Given the description of an element on the screen output the (x, y) to click on. 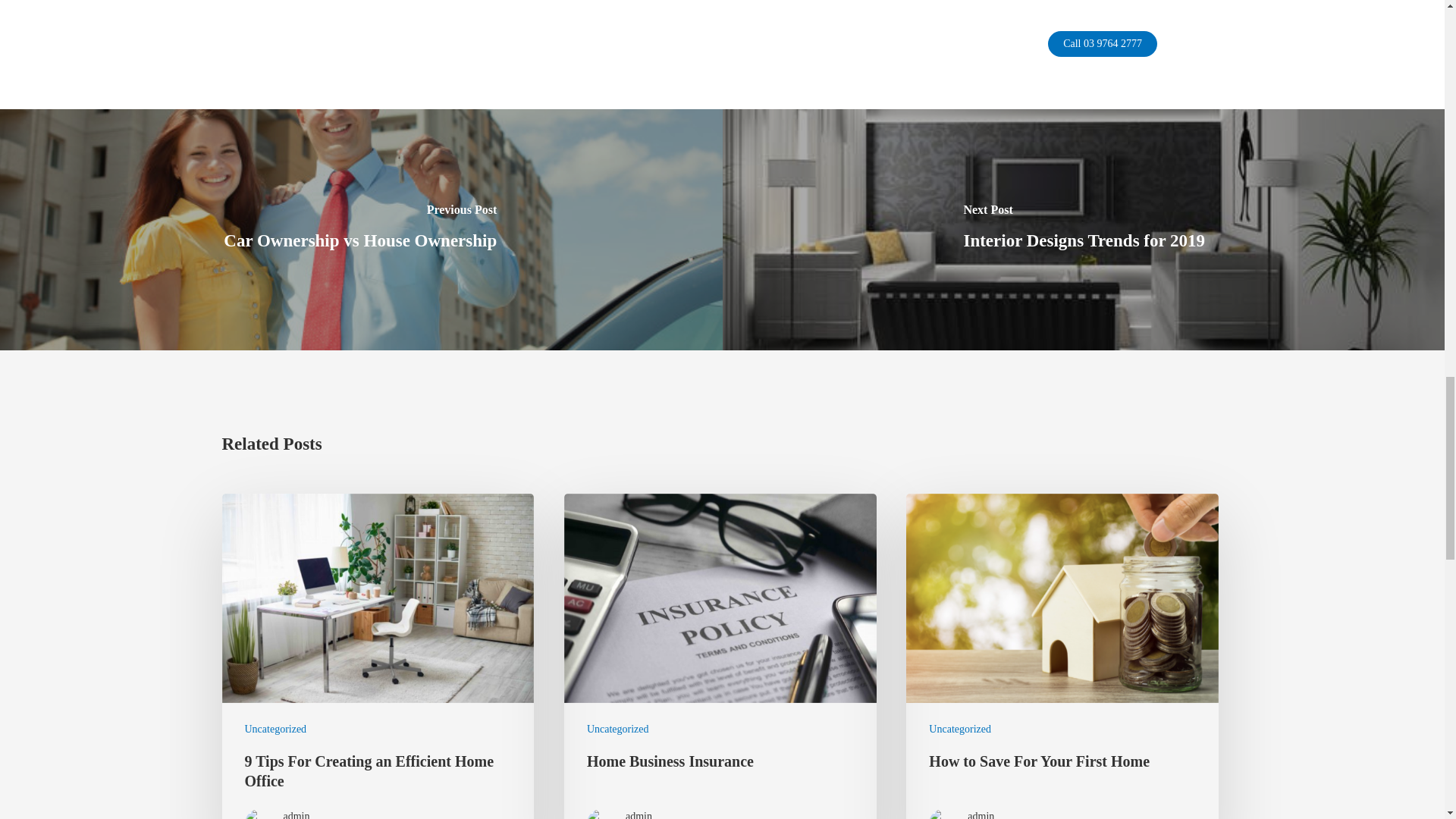
Uncategorized (274, 728)
admin (317, 814)
